Given the description of an element on the screen output the (x, y) to click on. 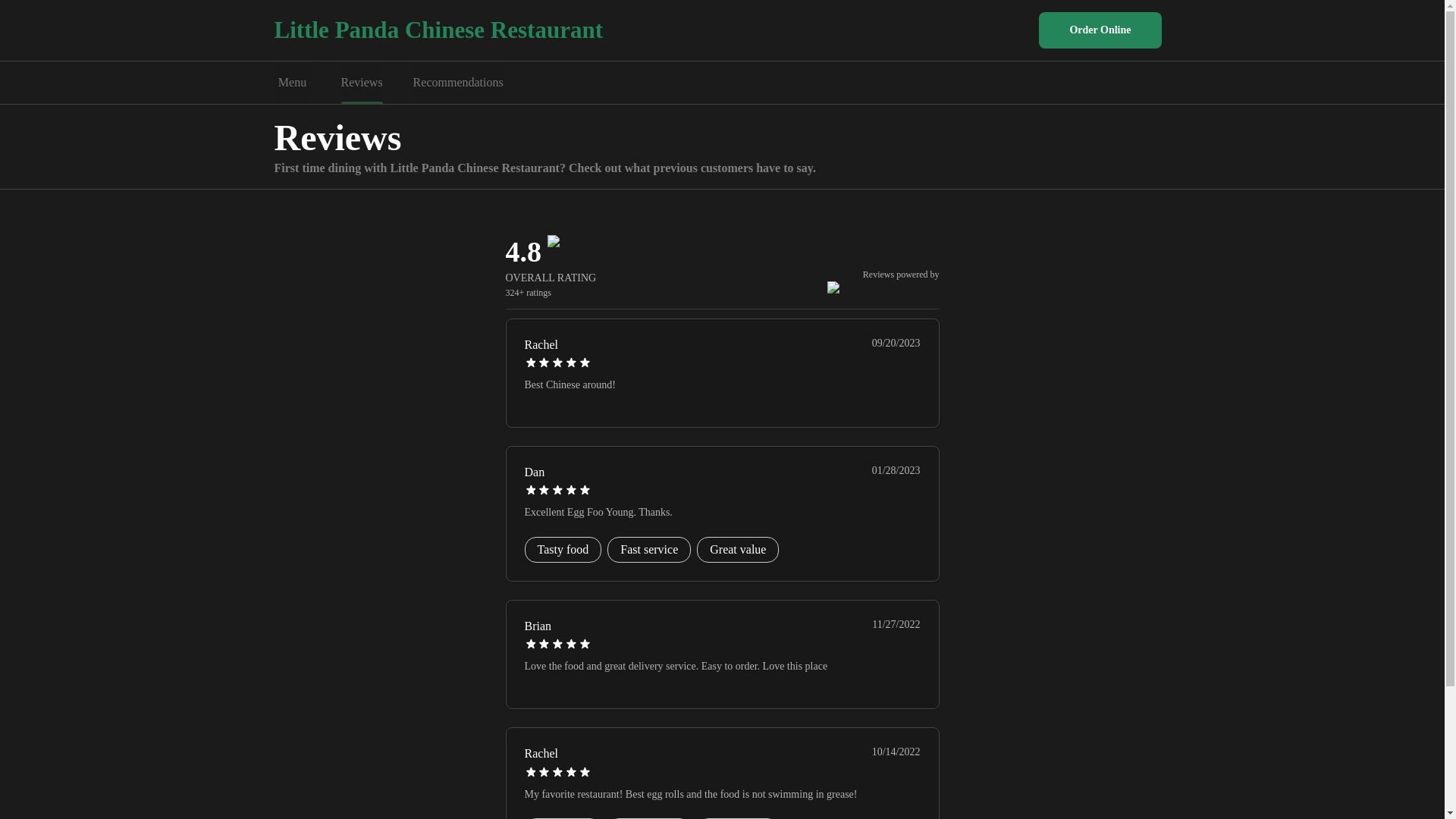
Little Panda Chinese Restaurant (439, 29)
Order Online (1099, 30)
Recommendations (458, 83)
Reviews (361, 83)
Recommendations (458, 82)
